Given the description of an element on the screen output the (x, y) to click on. 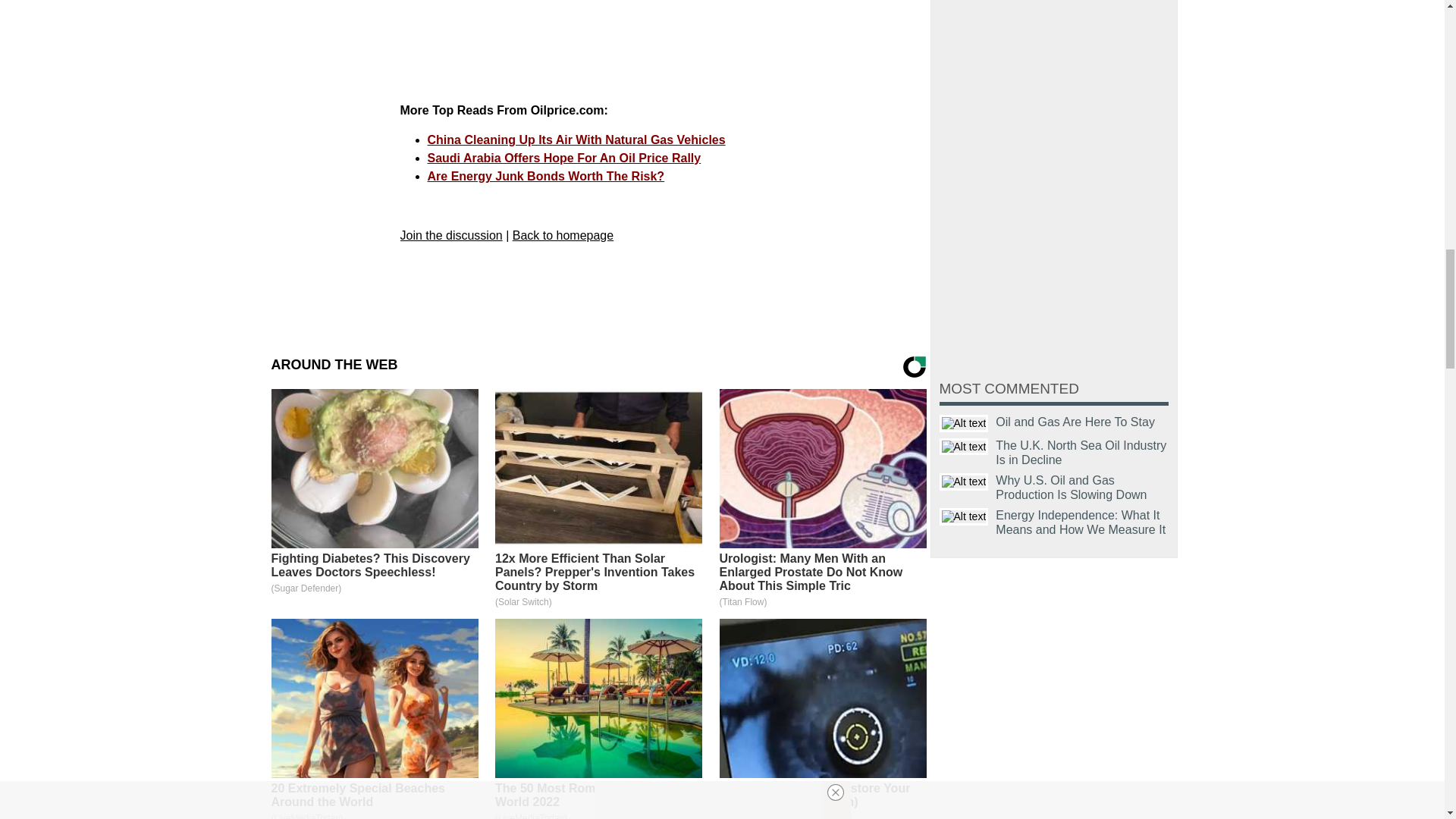
3rd party ad content (655, 50)
Title text (963, 446)
Title text (963, 423)
